Given the description of an element on the screen output the (x, y) to click on. 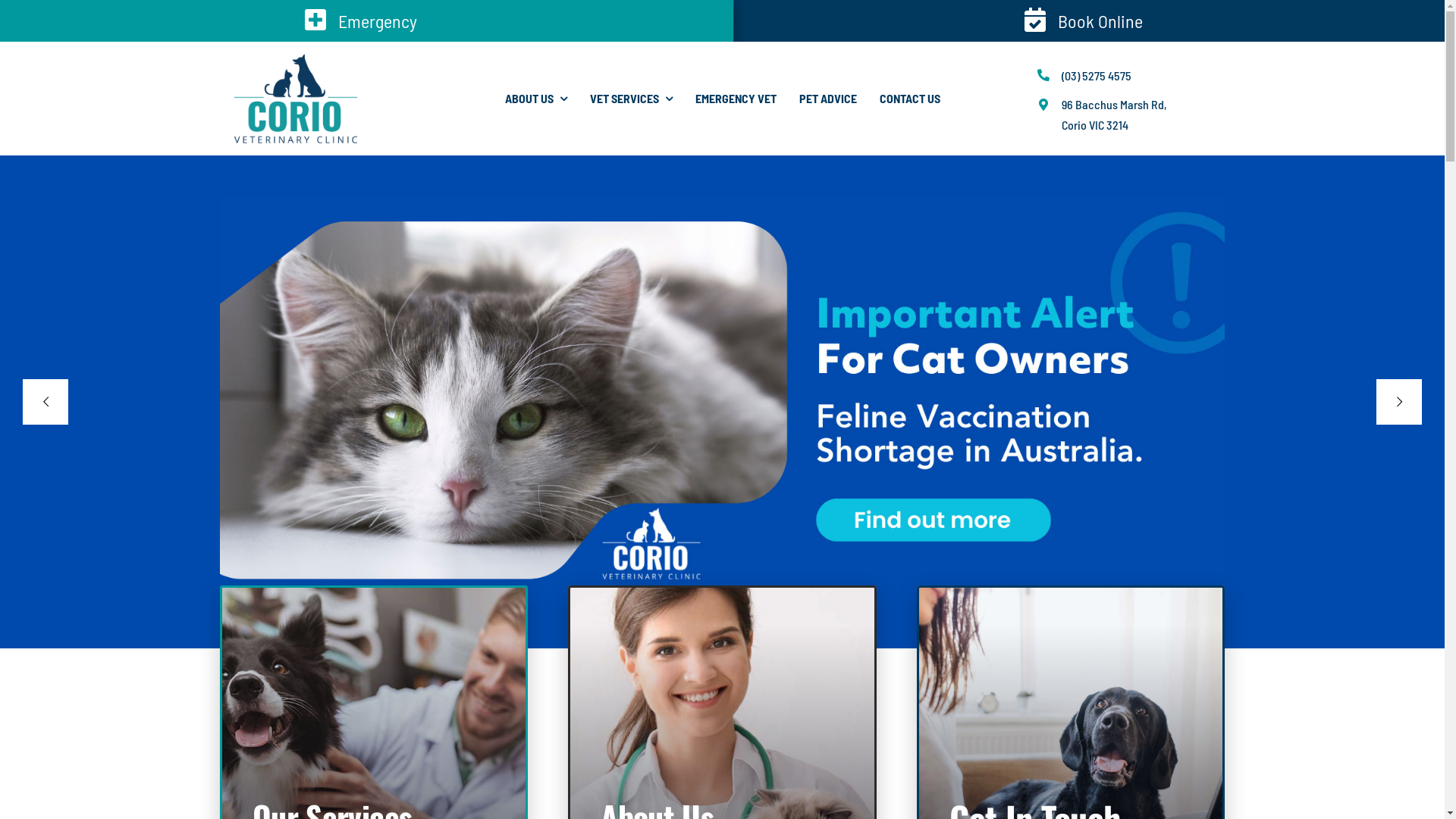
ABOUT US Element type: text (536, 98)
VET SERVICES Element type: text (630, 98)
CONTACT US Element type: text (909, 98)
EMERGENCY VET Element type: text (734, 98)
(03) 5275 4575 Element type: text (1096, 75)
PET ADVICE Element type: text (827, 98)
96 Bacchus Marsh Rd,
Corio VIC 3214 Element type: text (1114, 114)
